Given the description of an element on the screen output the (x, y) to click on. 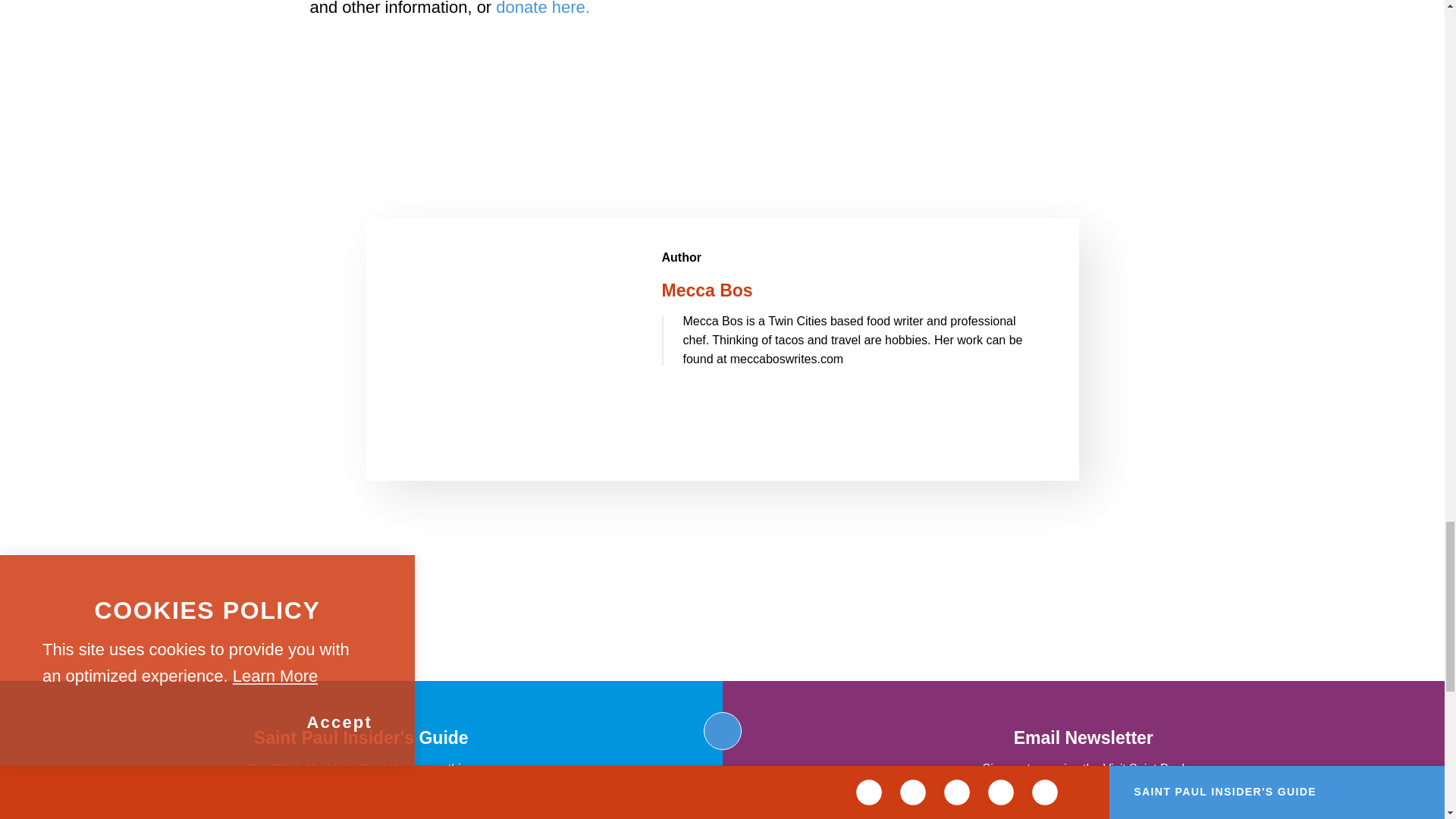
onate here. (547, 8)
